Given the description of an element on the screen output the (x, y) to click on. 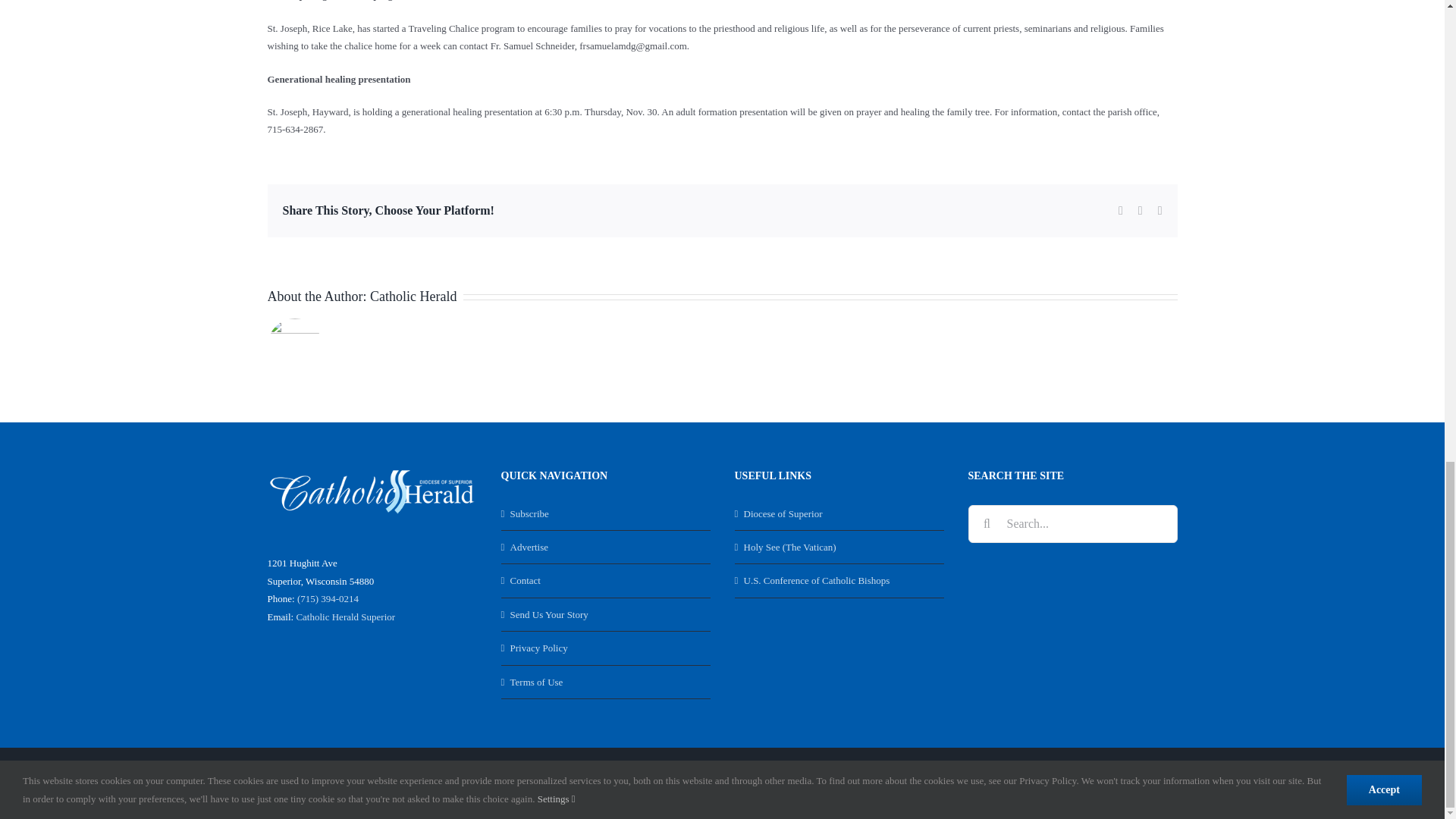
Posts by Catholic Herald (413, 296)
Facebook (1064, 783)
X (1096, 783)
YouTube (1130, 783)
Instagram (1163, 783)
